Given the description of an element on the screen output the (x, y) to click on. 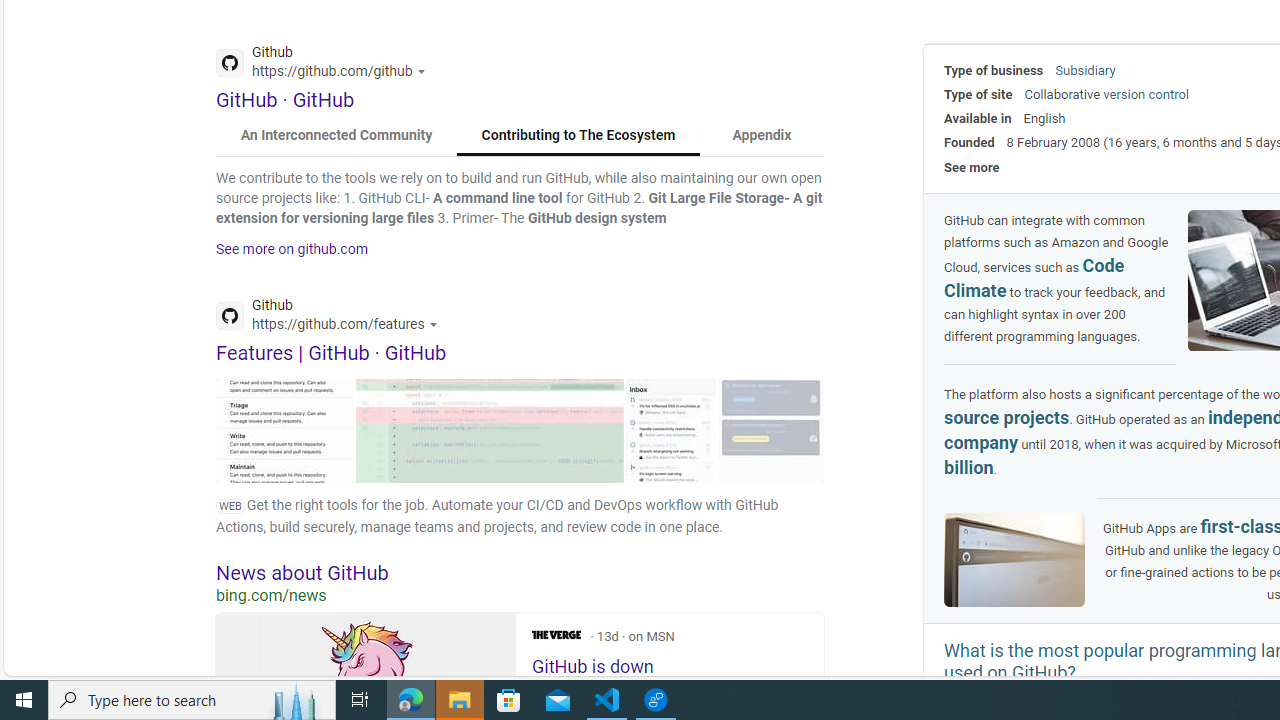
Image of GitHub (1014, 560)
Type of business (994, 70)
bing.com/news (520, 595)
An Interconnected Community (337, 135)
View details (771, 430)
See more on github.com (292, 249)
Appendix (761, 135)
Github (332, 317)
View details (771, 430)
